Given the description of an element on the screen output the (x, y) to click on. 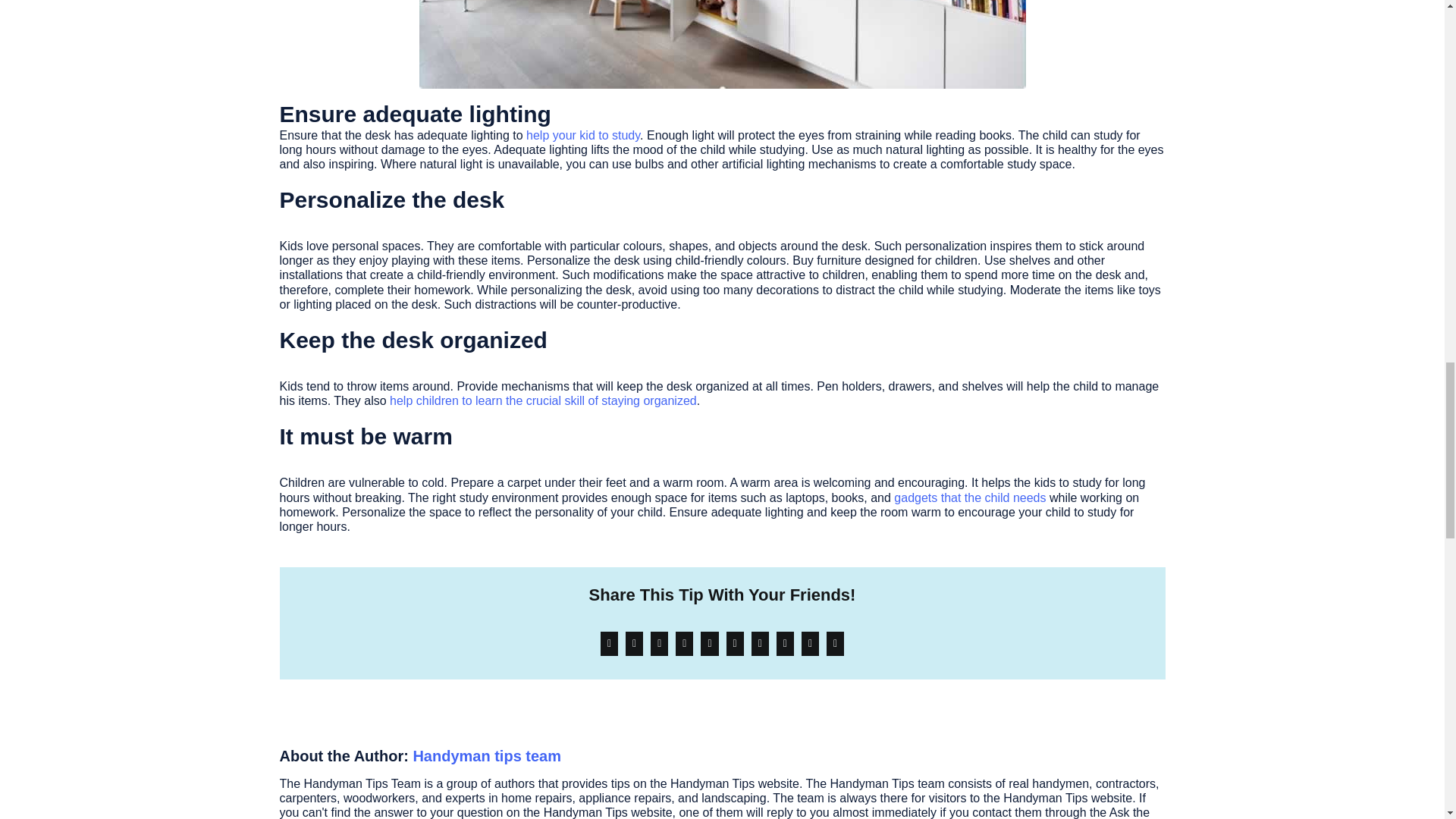
gadgets that the child needs (969, 497)
help your kid to study (582, 134)
Handyman tips team (486, 755)
